Given the description of an element on the screen output the (x, y) to click on. 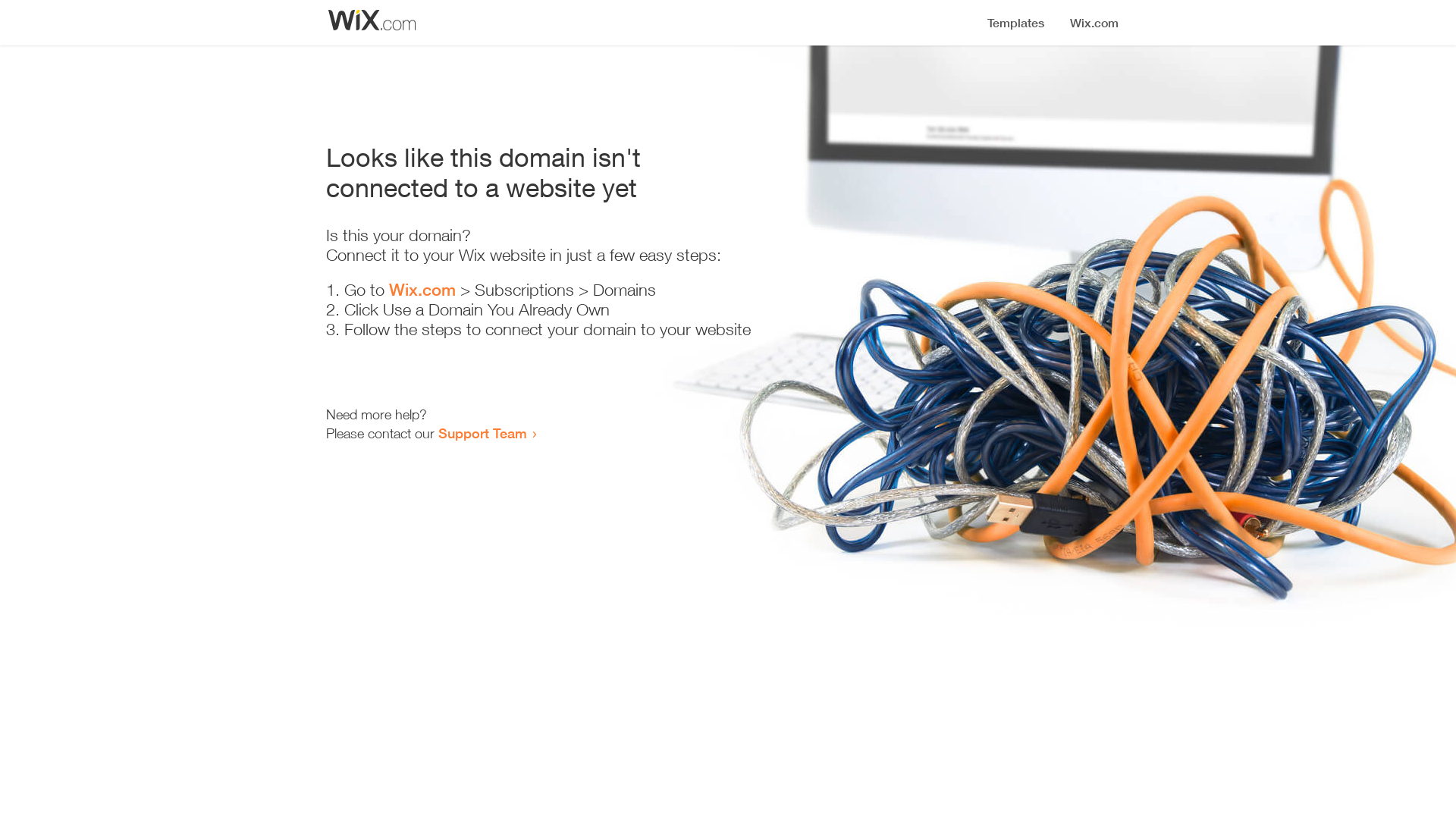
Support Team Element type: text (482, 432)
Wix.com Element type: text (422, 289)
